Given the description of an element on the screen output the (x, y) to click on. 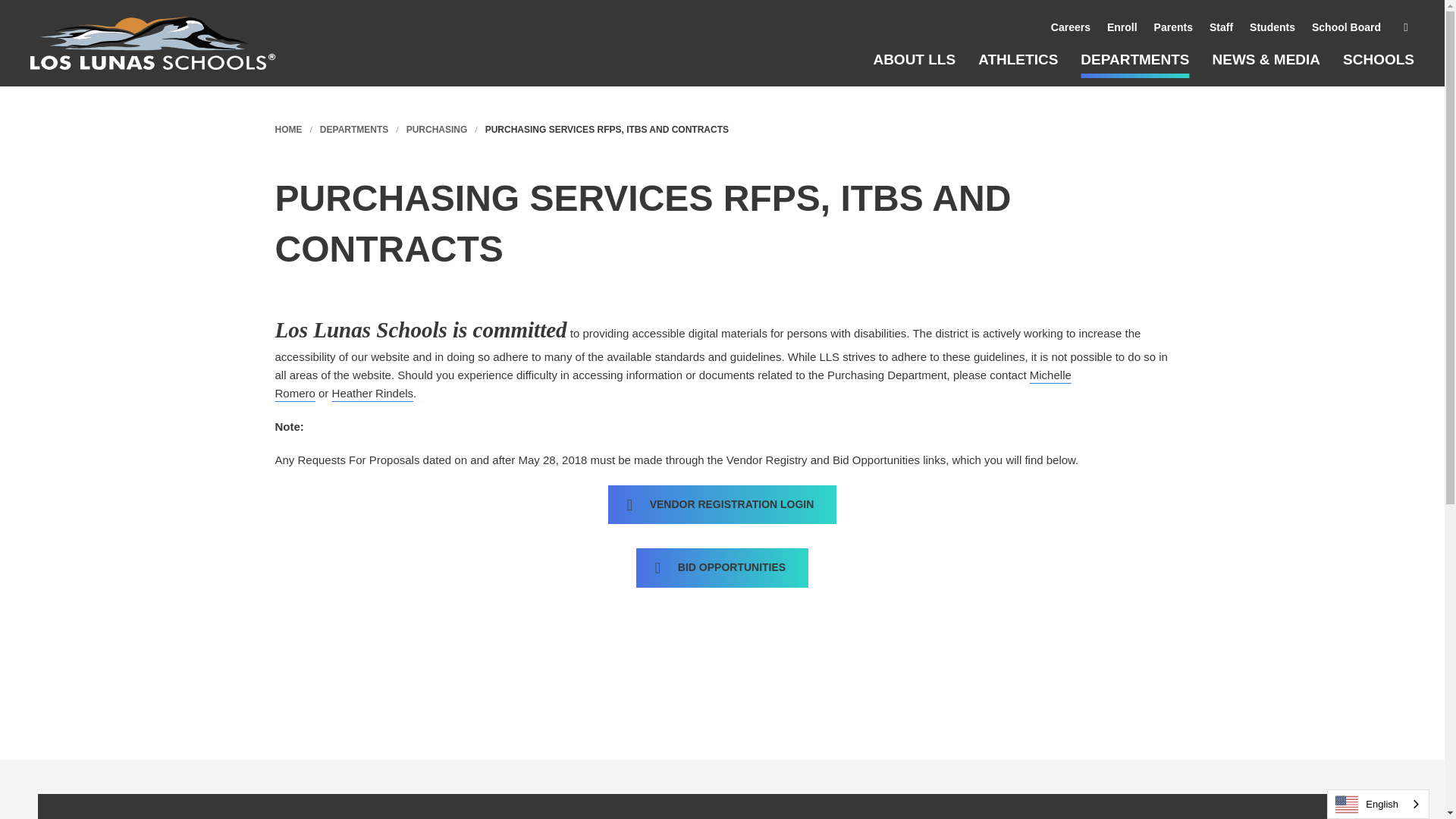
link to Vendor Registry website (721, 566)
link to Vendor Registration website (722, 503)
